Given the description of an element on the screen output the (x, y) to click on. 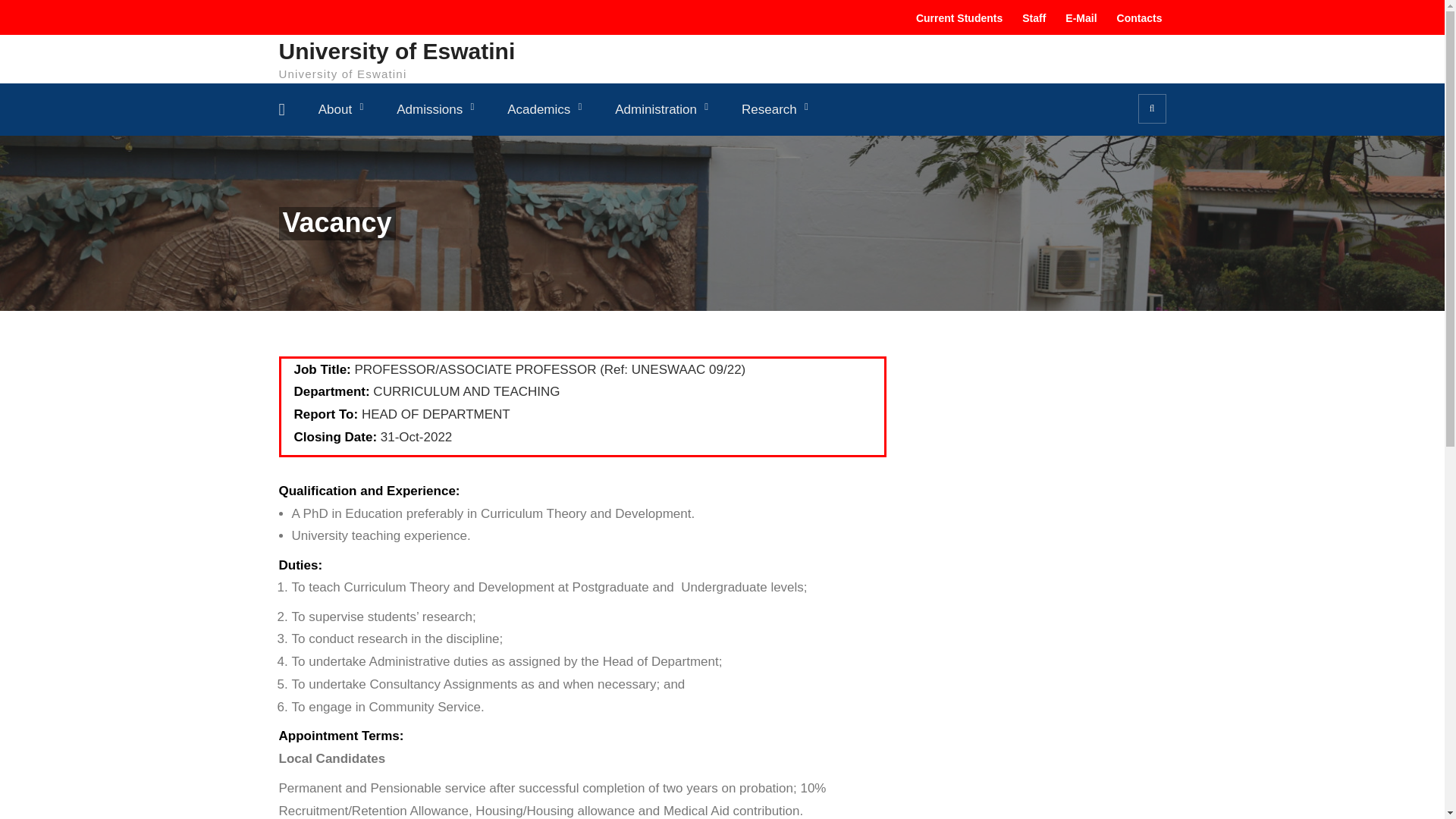
Current Students (956, 18)
Staff (1031, 18)
University of Eswatini (397, 50)
Contacts (1137, 18)
E-Mail (1078, 18)
Vision And Mission (386, 150)
About (340, 109)
